Given the description of an element on the screen output the (x, y) to click on. 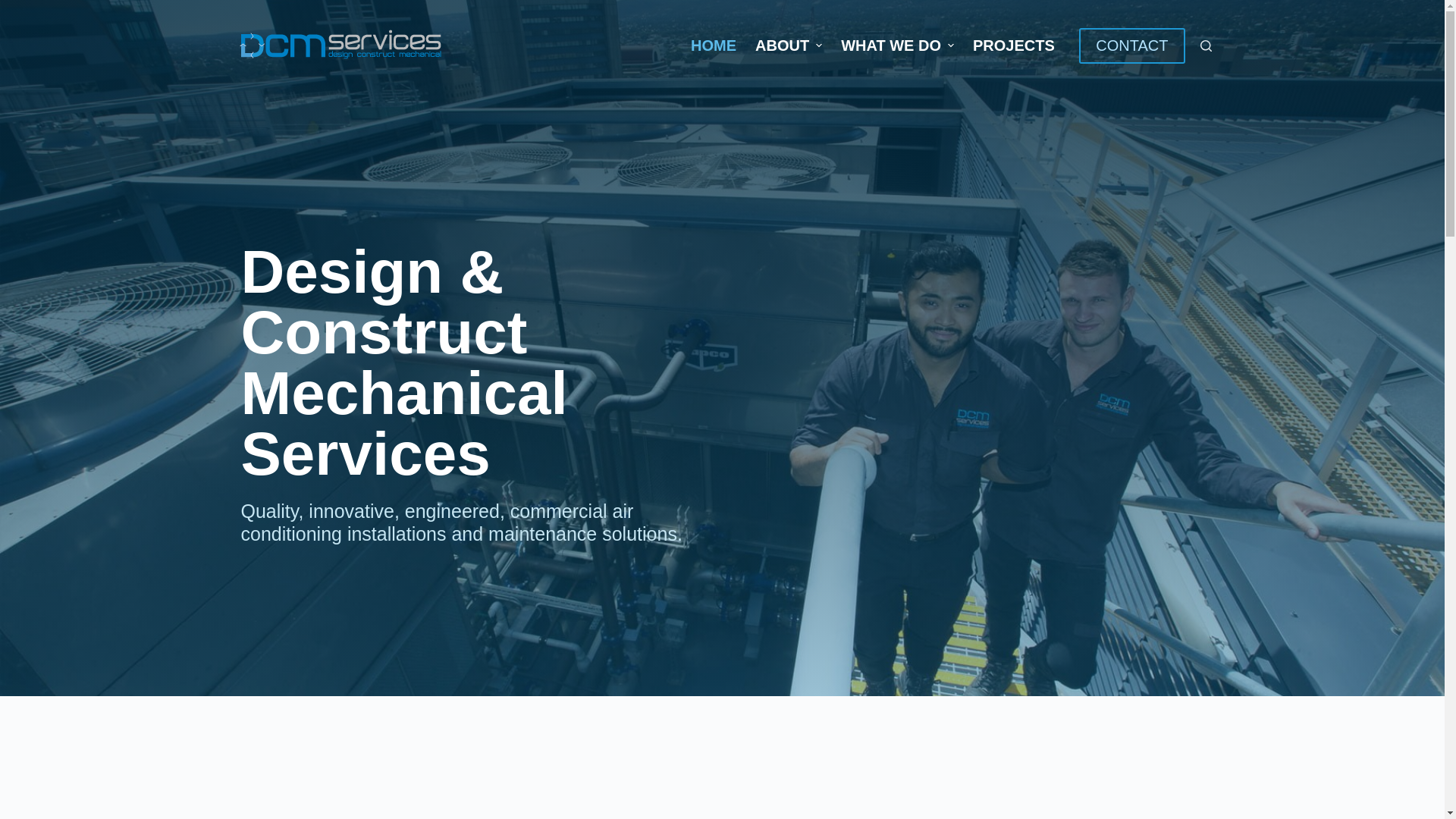
PROJECTS Element type: text (1013, 45)
HOME Element type: text (713, 45)
Skip to content Element type: text (15, 7)
WHAT WE DO Element type: text (897, 45)
CONTACT Element type: text (1131, 44)
ABOUT Element type: text (788, 45)
